Given the description of an element on the screen output the (x, y) to click on. 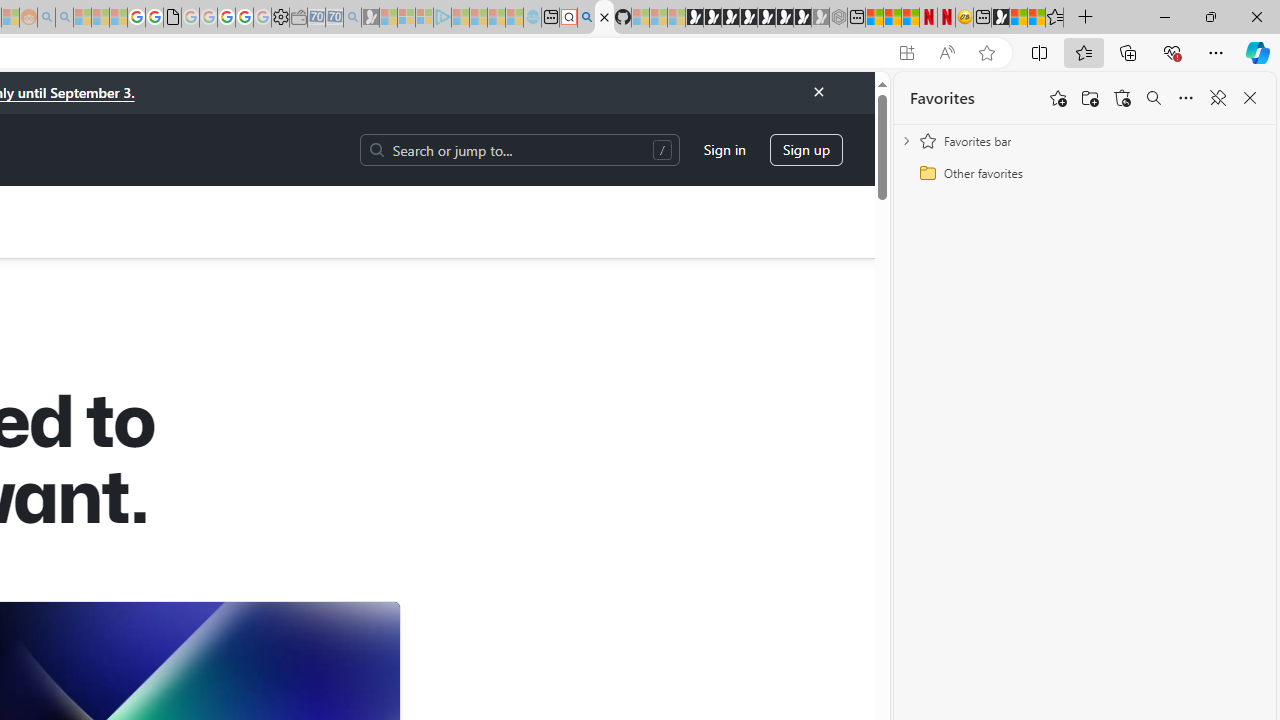
Add this page to favorites (1058, 98)
